Given the description of an element on the screen output the (x, y) to click on. 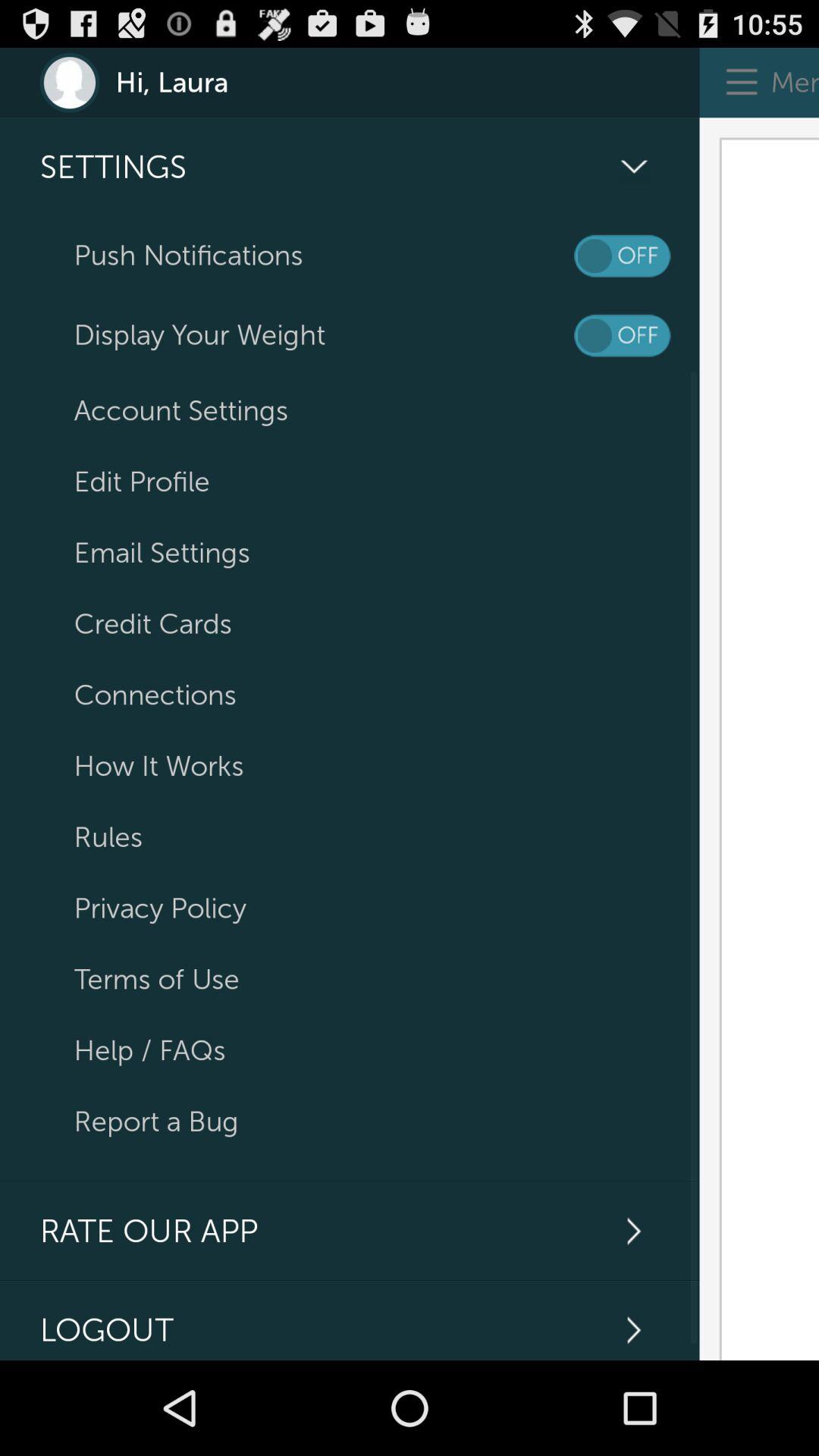
toggle push notifications (622, 255)
